Given the description of an element on the screen output the (x, y) to click on. 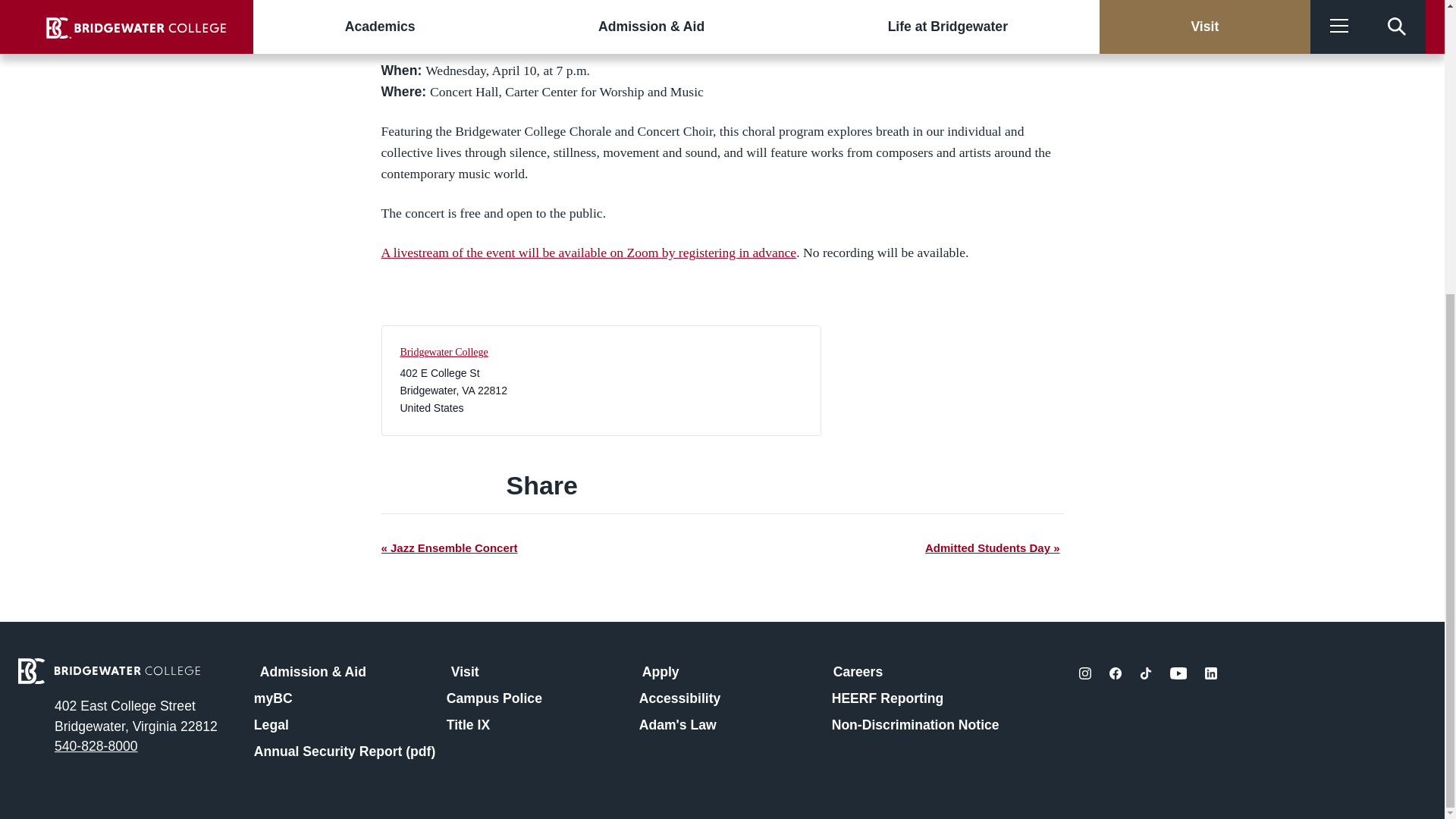
social-instagram-fill (1084, 673)
social-facebook (1115, 673)
social-youtube (1178, 673)
Bridgewater College (443, 351)
